Given the description of an element on the screen output the (x, y) to click on. 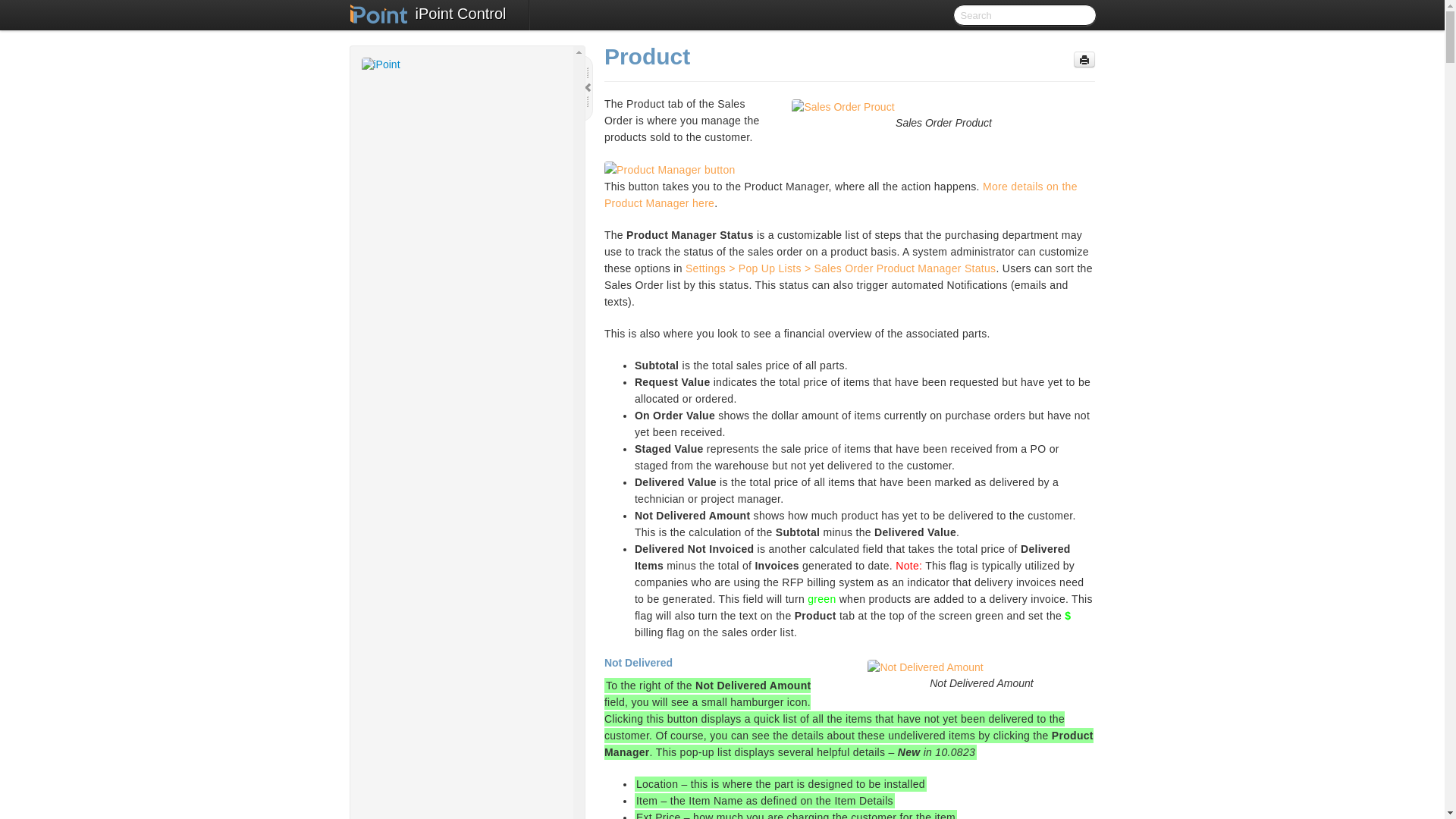
OnBoarding (467, 156)
FileMaker Updates (475, 651)
Not Delivered Amount (980, 667)
iPoint Control (460, 15)
QB Step 3: Lists (491, 379)
Product Manager button (669, 169)
Server Acquisition (475, 174)
Using iPoint (475, 615)
Print page (1084, 59)
Troubleshooting (475, 706)
